Given the description of an element on the screen output the (x, y) to click on. 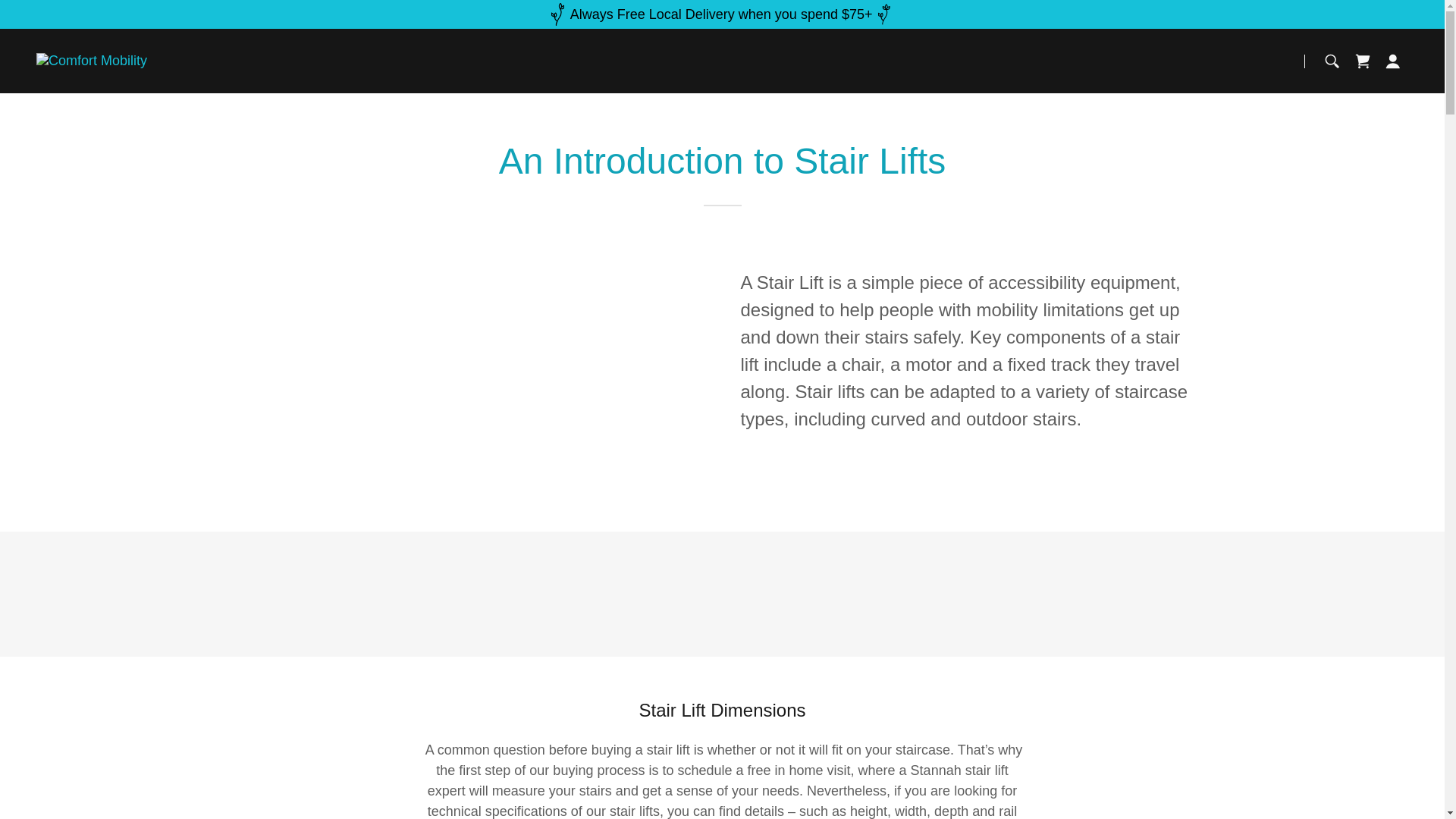
Comfort Mobility (91, 60)
